Given the description of an element on the screen output the (x, y) to click on. 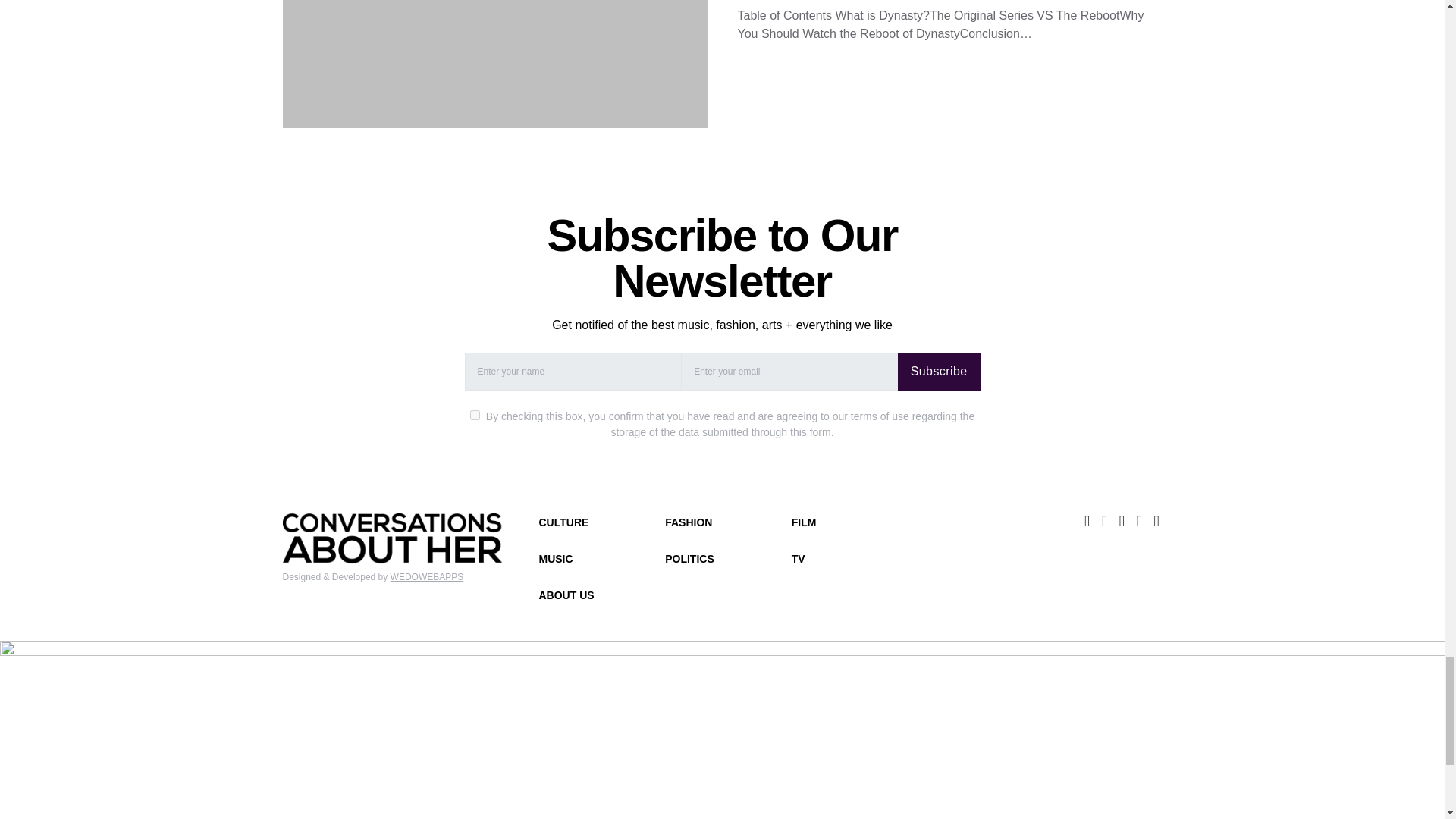
on (475, 415)
